Given the description of an element on the screen output the (x, y) to click on. 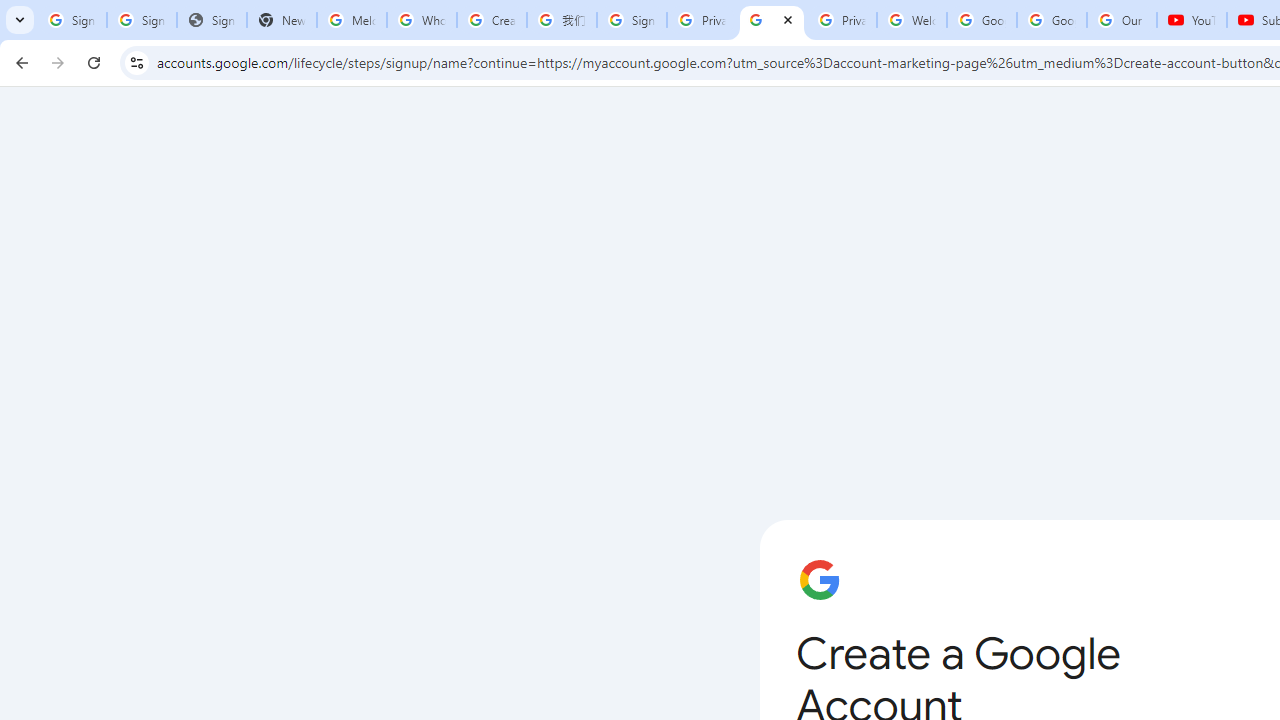
Create your Google Account (772, 20)
New Tab (282, 20)
Who is my administrator? - Google Account Help (421, 20)
Google Account (1051, 20)
Sign In - USA TODAY (211, 20)
Create your Google Account (492, 20)
Sign in - Google Accounts (141, 20)
Sign in - Google Accounts (631, 20)
